Given the description of an element on the screen output the (x, y) to click on. 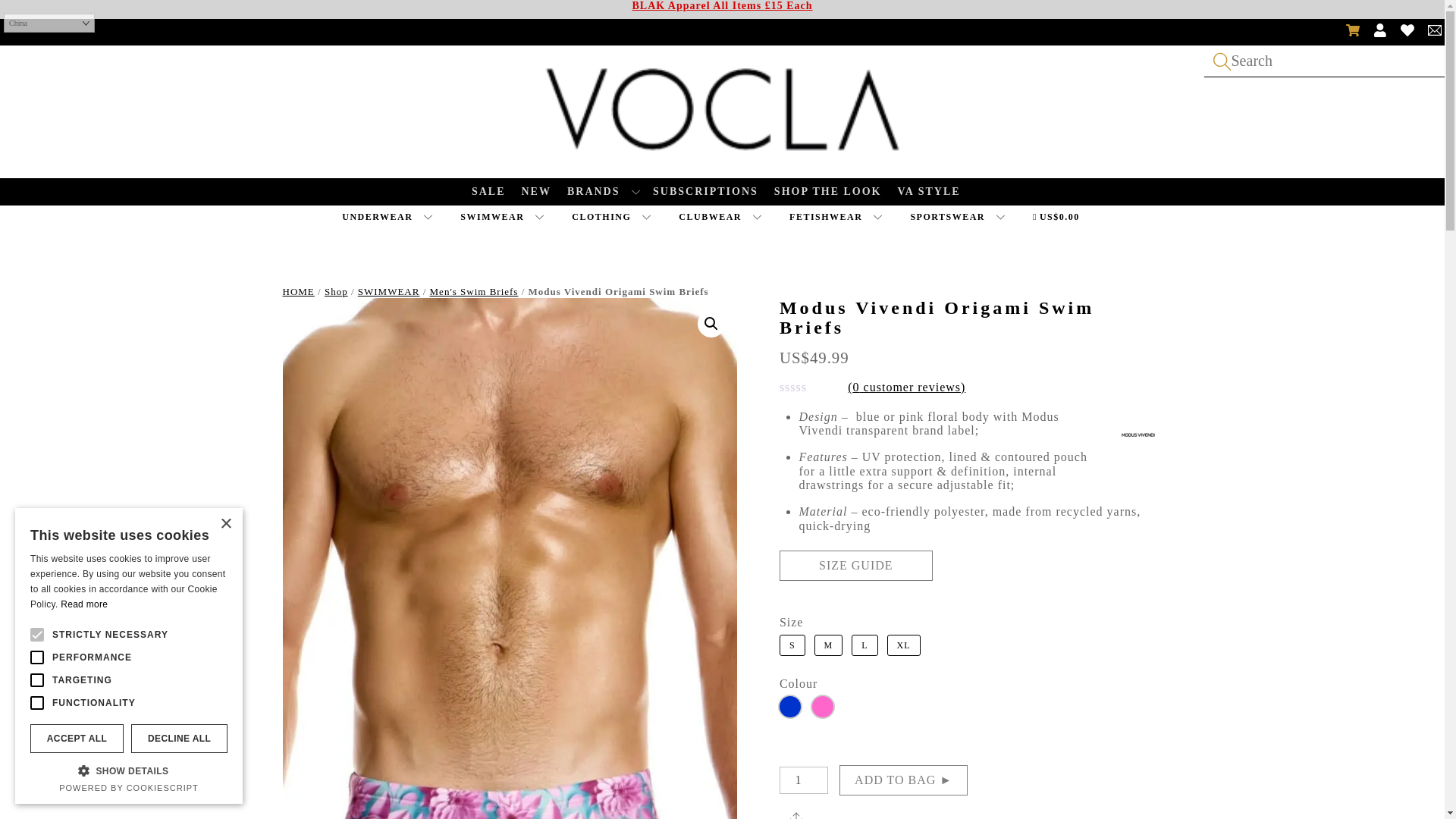
Consent Management Platform (128, 787)
1 (803, 780)
Start shopping (1065, 217)
